Given the description of an element on the screen output the (x, y) to click on. 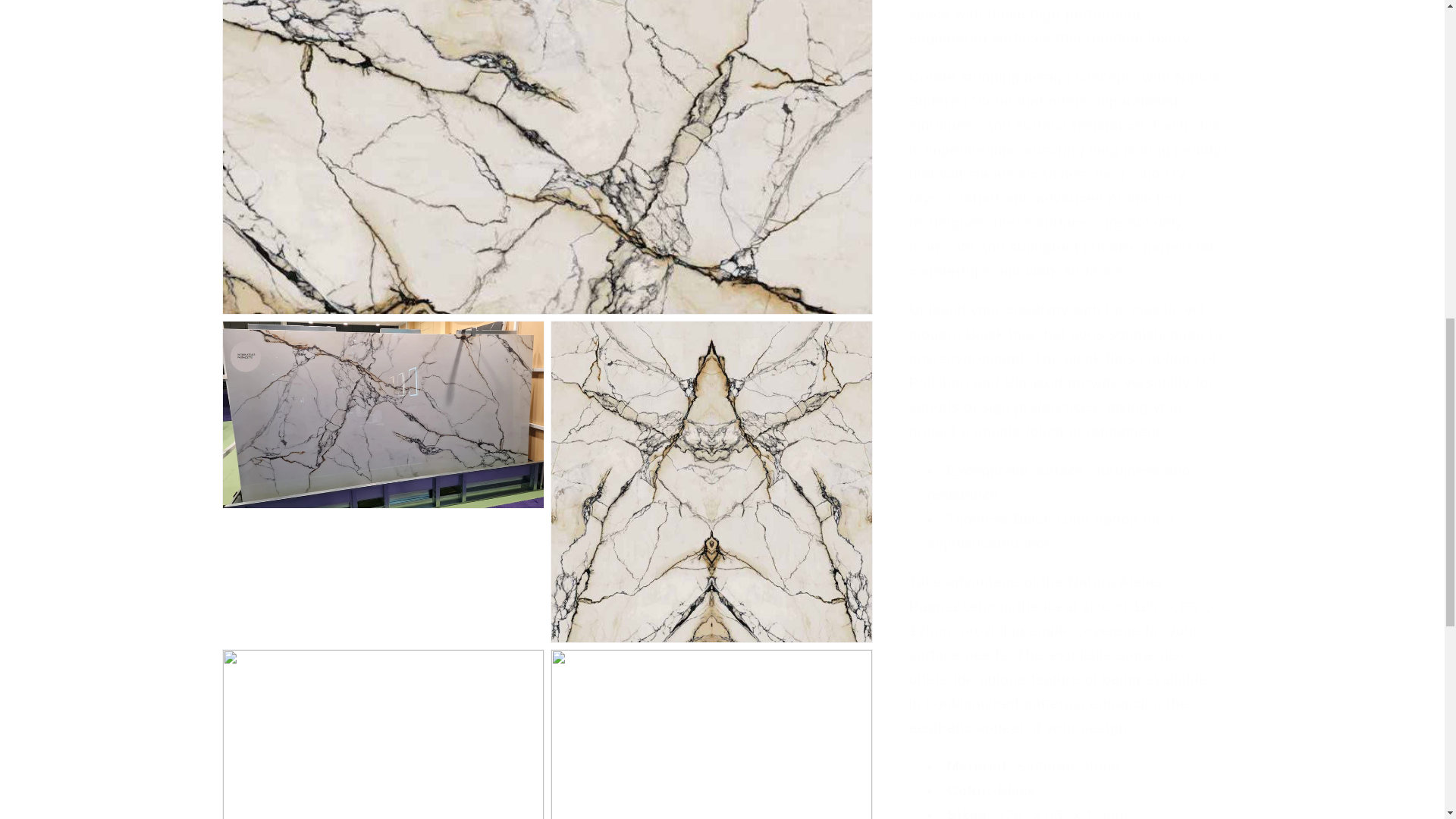
Open media 4 in modal (382, 185)
Open media 5 in modal (711, 185)
Open media 2 in modal (382, 22)
Open media 3 in modal (711, 22)
